Given the description of an element on the screen output the (x, y) to click on. 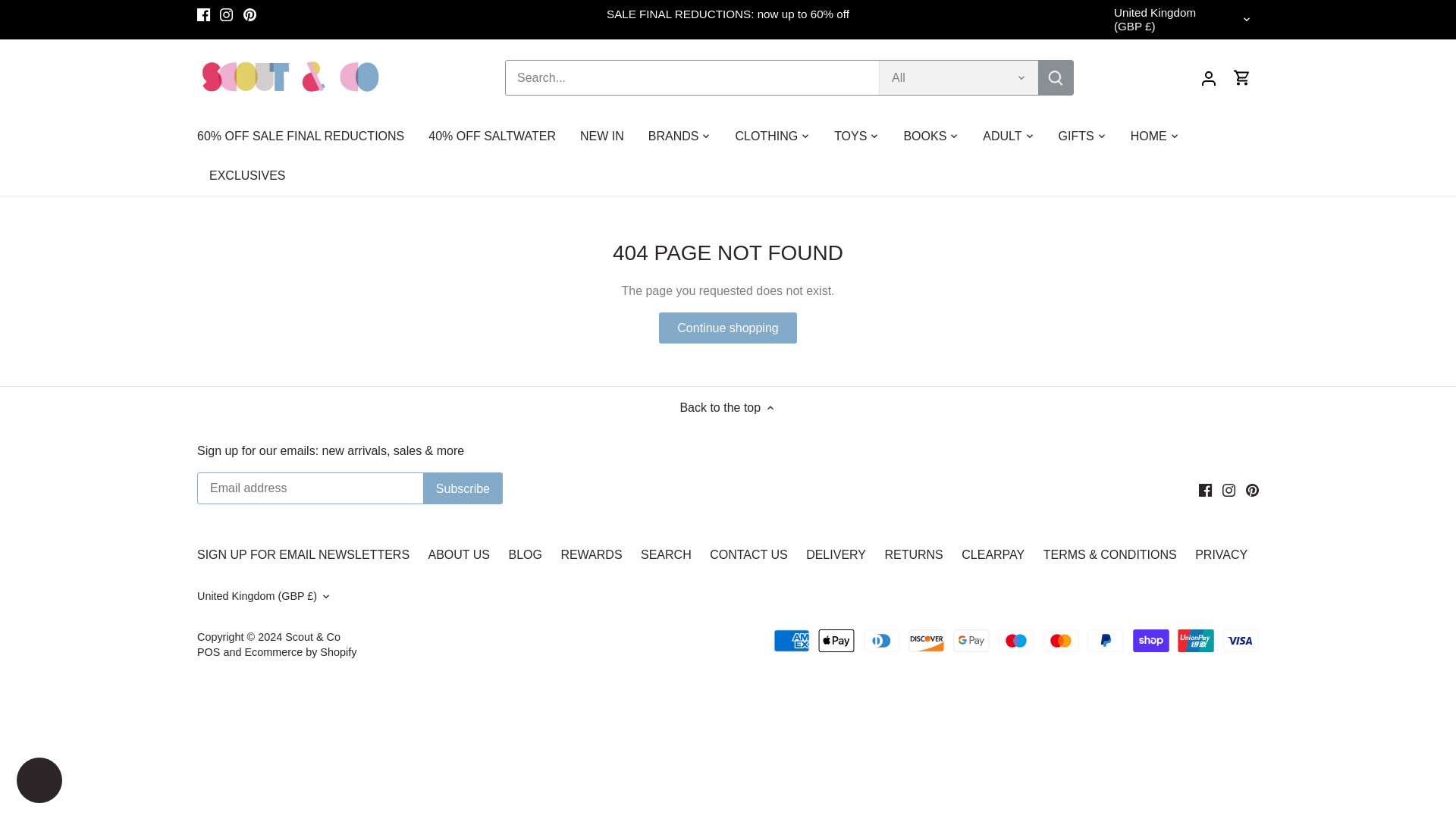
Facebook (1204, 490)
Subscribe (462, 488)
Shopify online store chat (38, 781)
Instagram (225, 14)
Facebook (202, 14)
Instagram (1228, 490)
Pinterest (249, 14)
Pinterest (1252, 490)
